Given the description of an element on the screen output the (x, y) to click on. 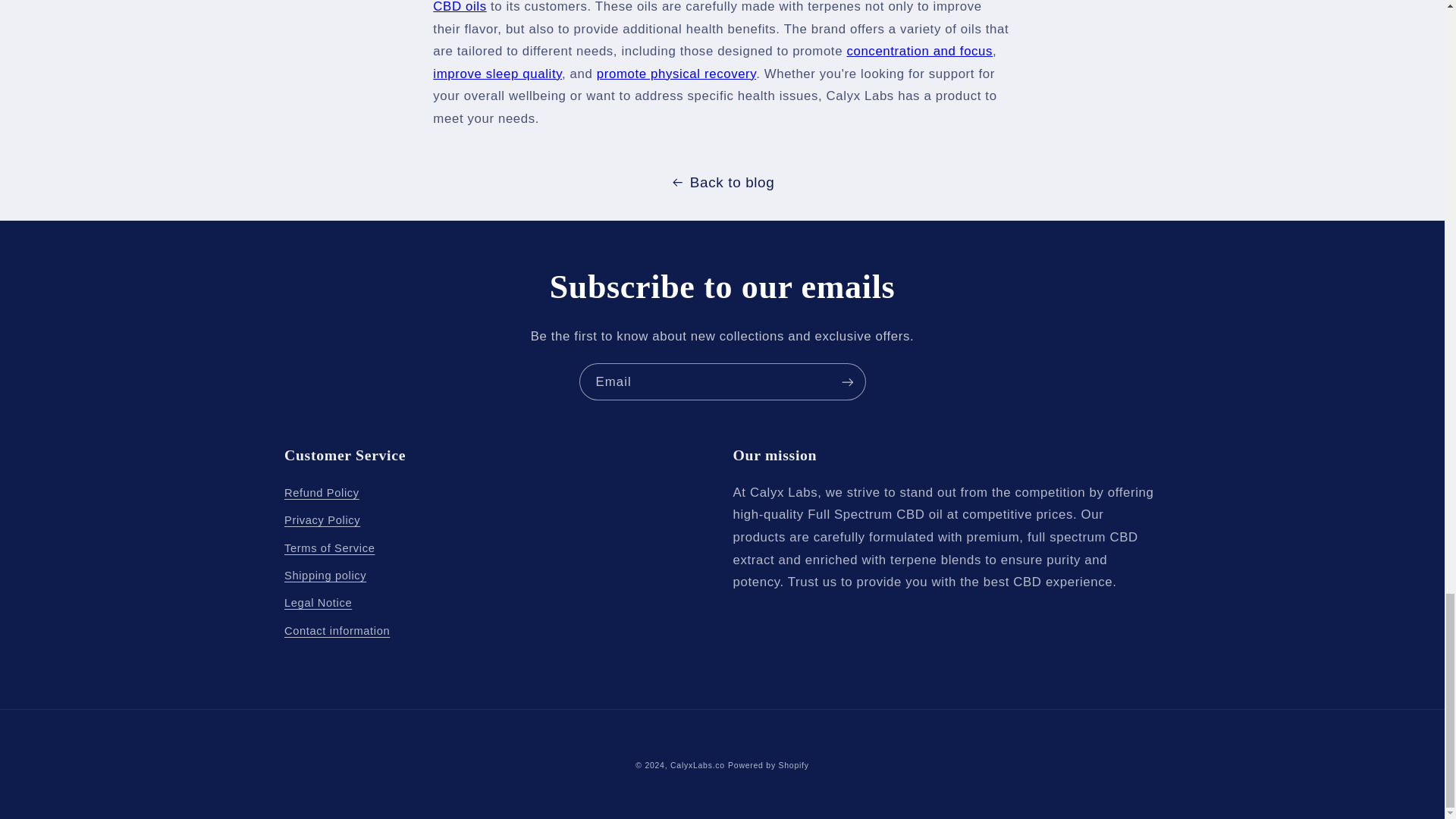
concentration and focus (918, 51)
full-spectrum CBD oils (711, 6)
CalyxLabs.co (697, 764)
Privacy Policy (321, 520)
Powered by Shopify (768, 764)
Contact information (336, 631)
improve sleep quality (497, 73)
CBD for Improved Sleep Quality (497, 73)
All Products (711, 6)
CBD oil for Better Recovery (675, 73)
Shipping policy (324, 575)
Legal Notice (317, 603)
Refund Policy (321, 495)
promote physical recovery (675, 73)
Terms of Service (328, 547)
